Given the description of an element on the screen output the (x, y) to click on. 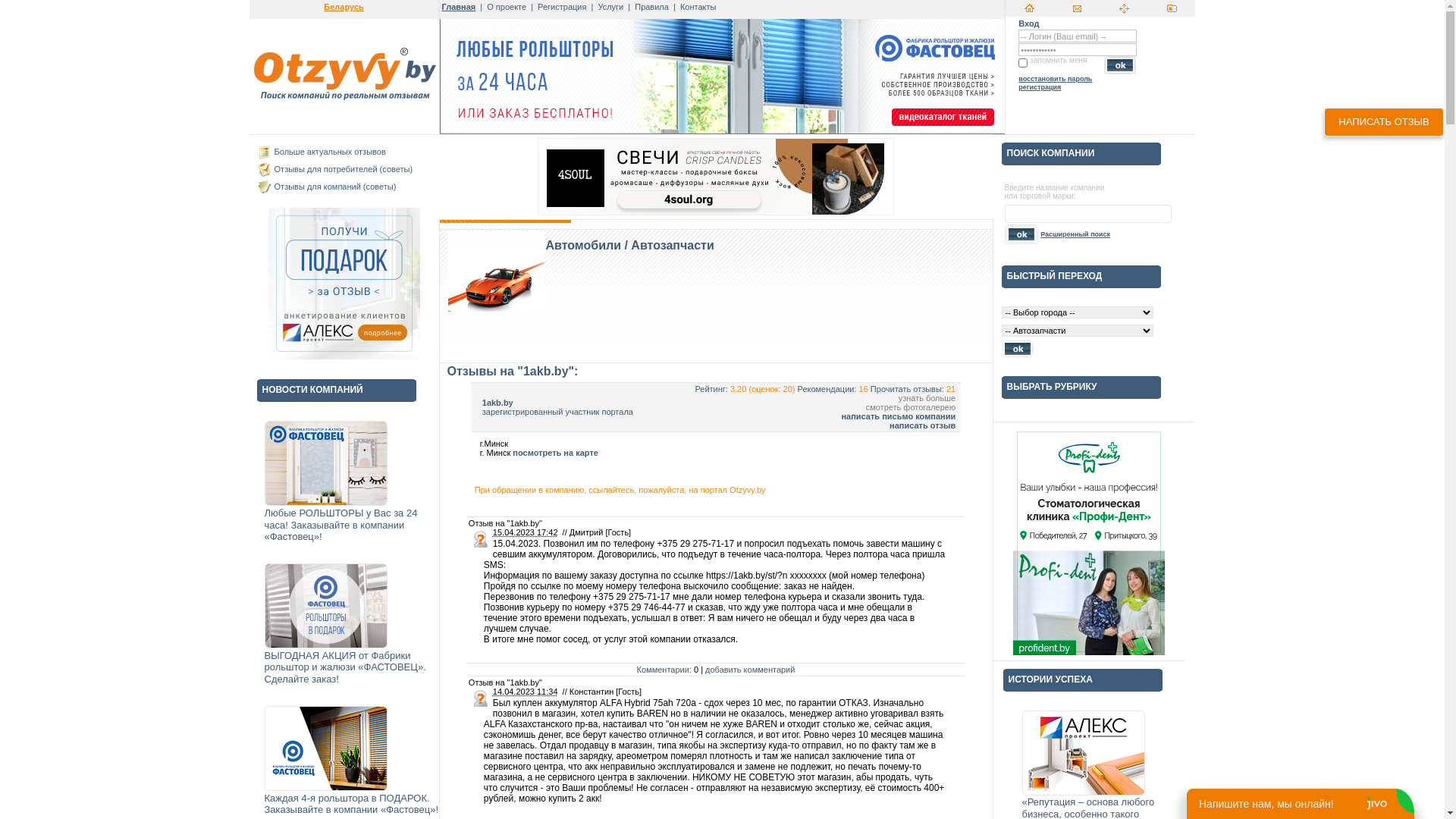
1akb.by Element type: text (497, 402)
